Given the description of an element on the screen output the (x, y) to click on. 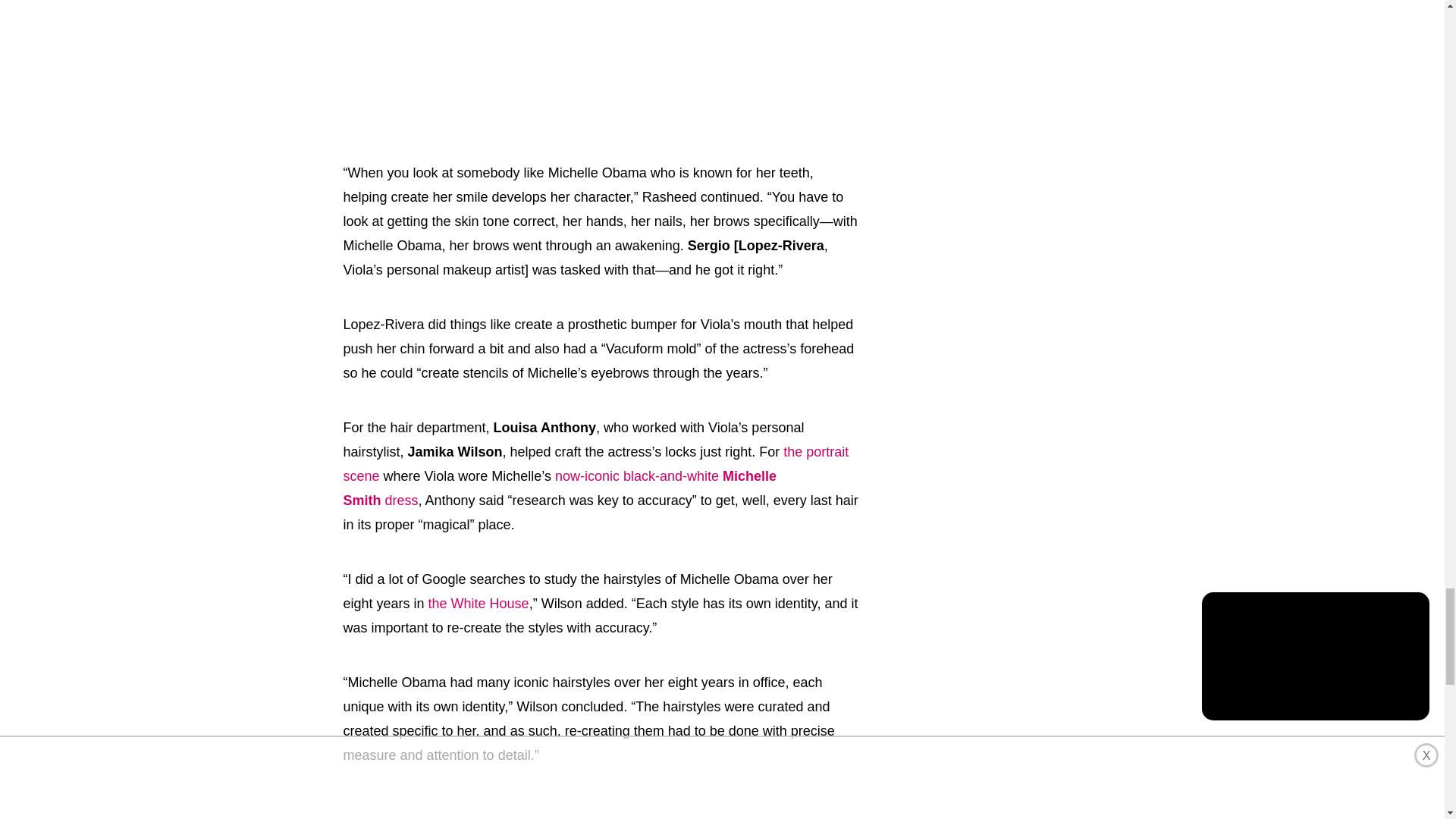
3rd party ad content (600, 57)
